Given the description of an element on the screen output the (x, y) to click on. 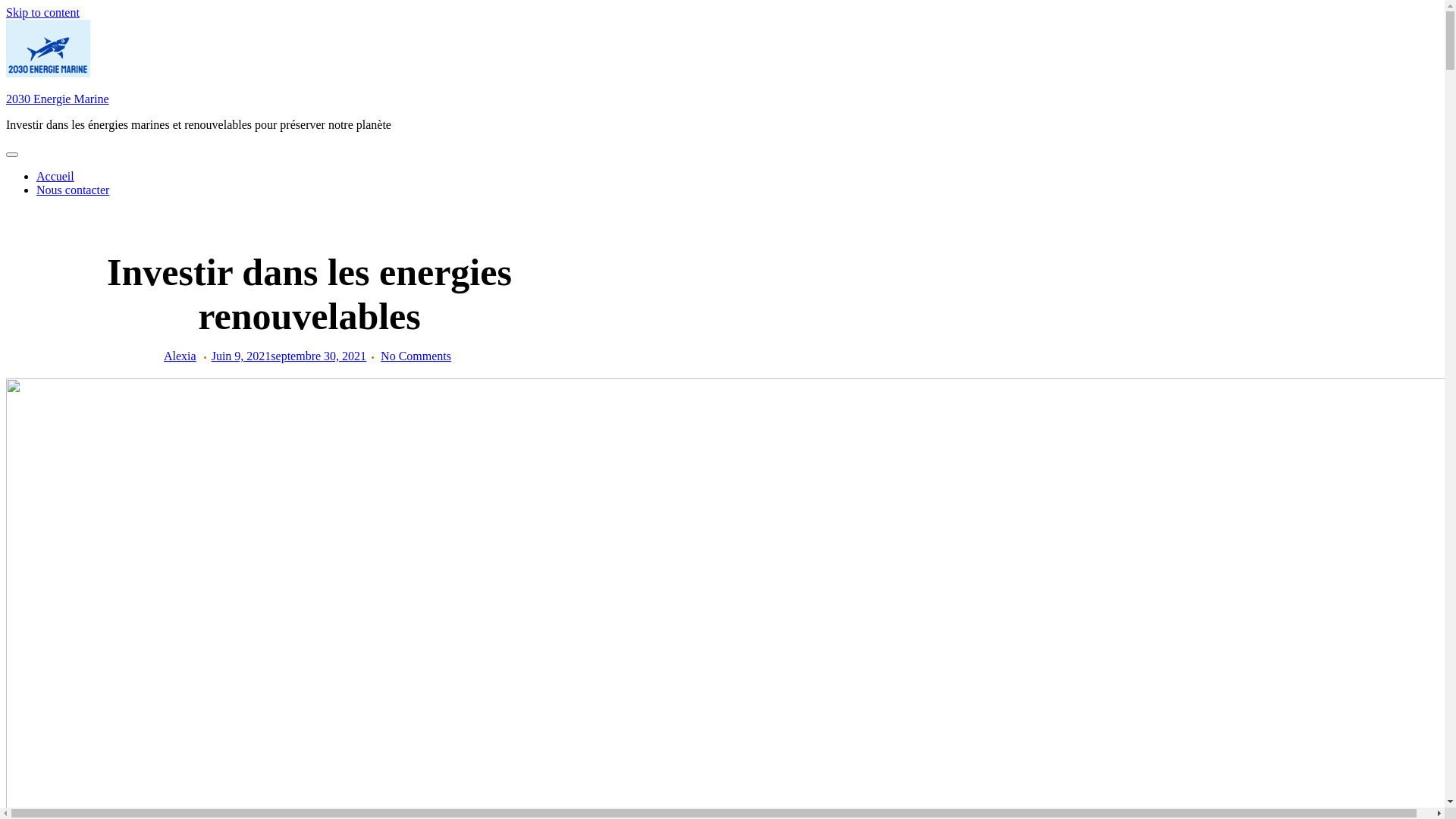
Alexia Element type: text (179, 355)
Skip to content Element type: text (42, 12)
No Comments Element type: text (415, 355)
2030 Energie Marine Element type: text (57, 98)
Juin 9, 2021Septembre 30, 2021 Element type: text (288, 355)
Nous contacter Element type: text (72, 189)
Accueil Element type: text (55, 175)
